Given the description of an element on the screen output the (x, y) to click on. 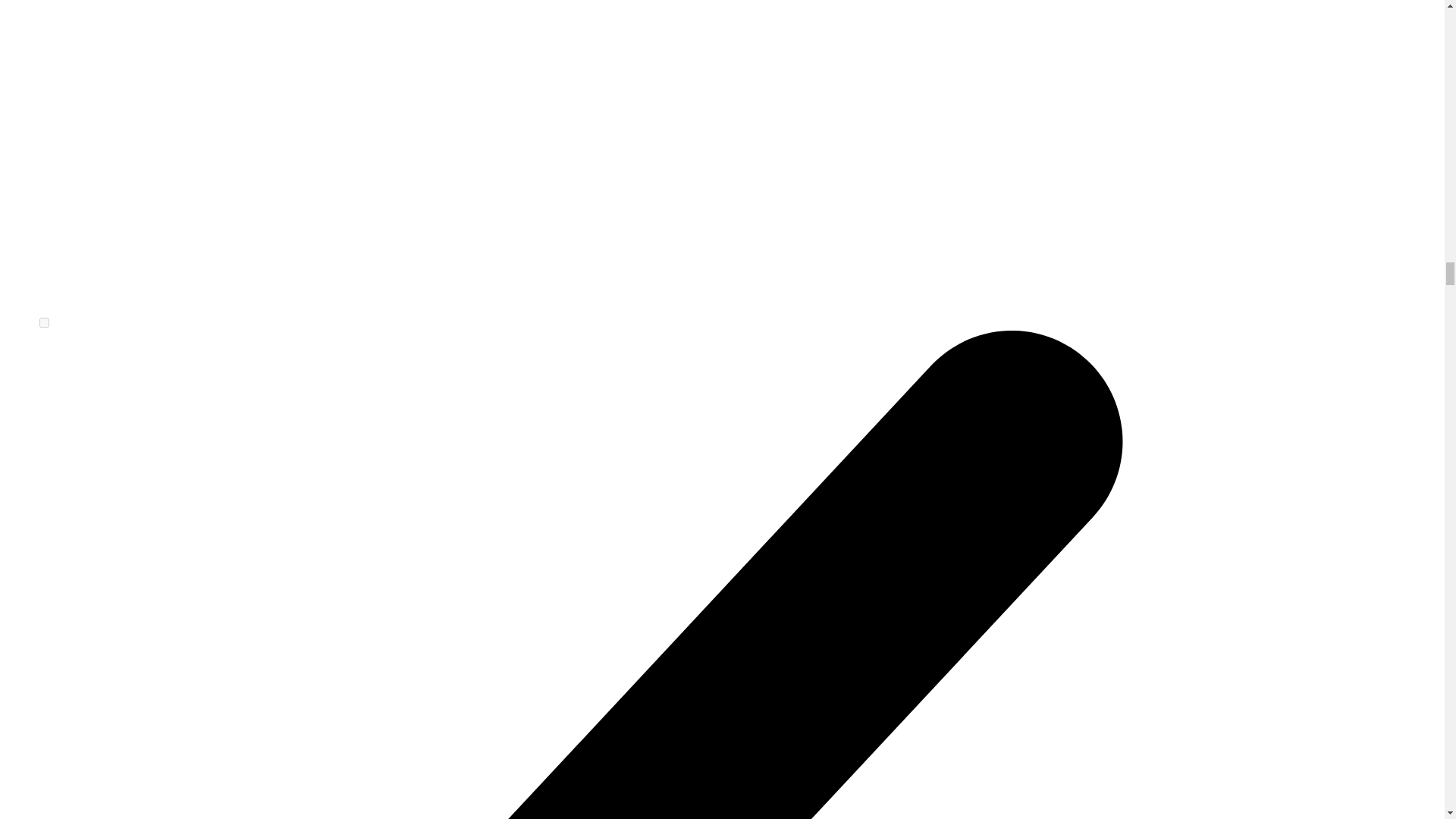
on (44, 322)
